Given the description of an element on the screen output the (x, y) to click on. 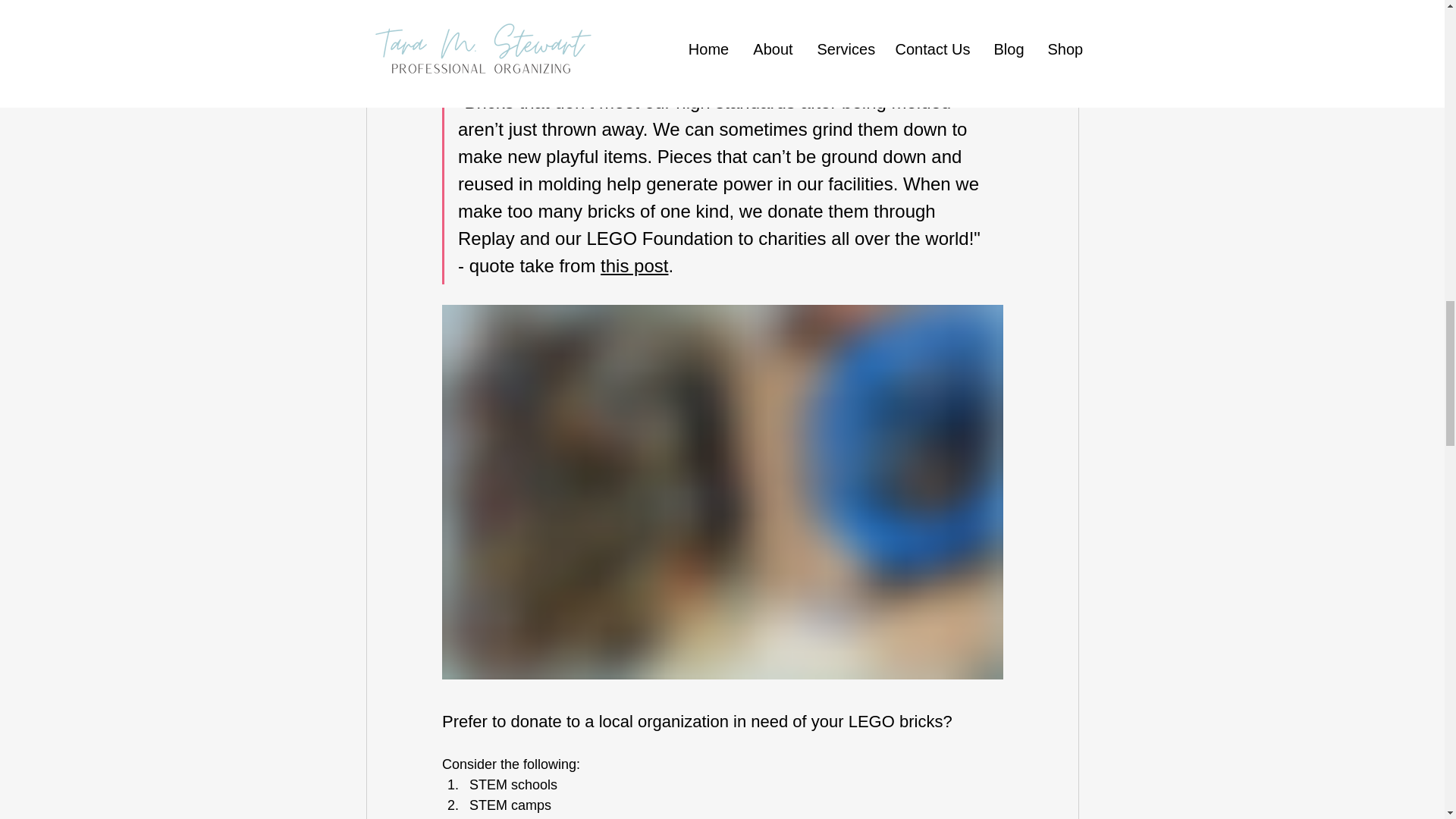
this post (633, 265)
